Given the description of an element on the screen output the (x, y) to click on. 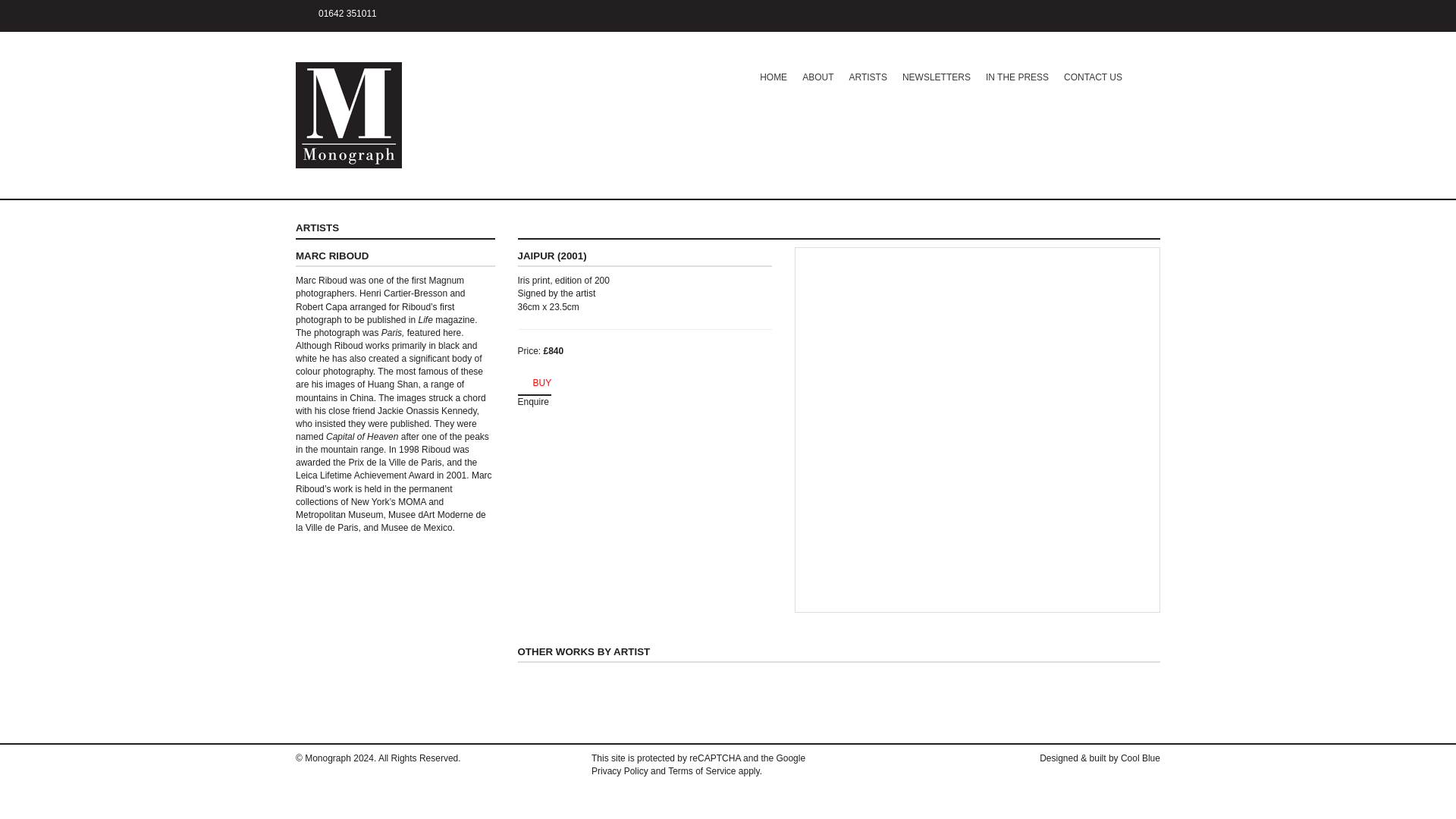
ARTISTS (727, 228)
NEWSLETTERS (936, 77)
Home (773, 77)
Cool Blue (1140, 757)
ABOUT (817, 77)
HOME (773, 77)
About (817, 77)
Terms of Service (701, 770)
ARTISTS (867, 77)
Artists (867, 77)
